Given the description of an element on the screen output the (x, y) to click on. 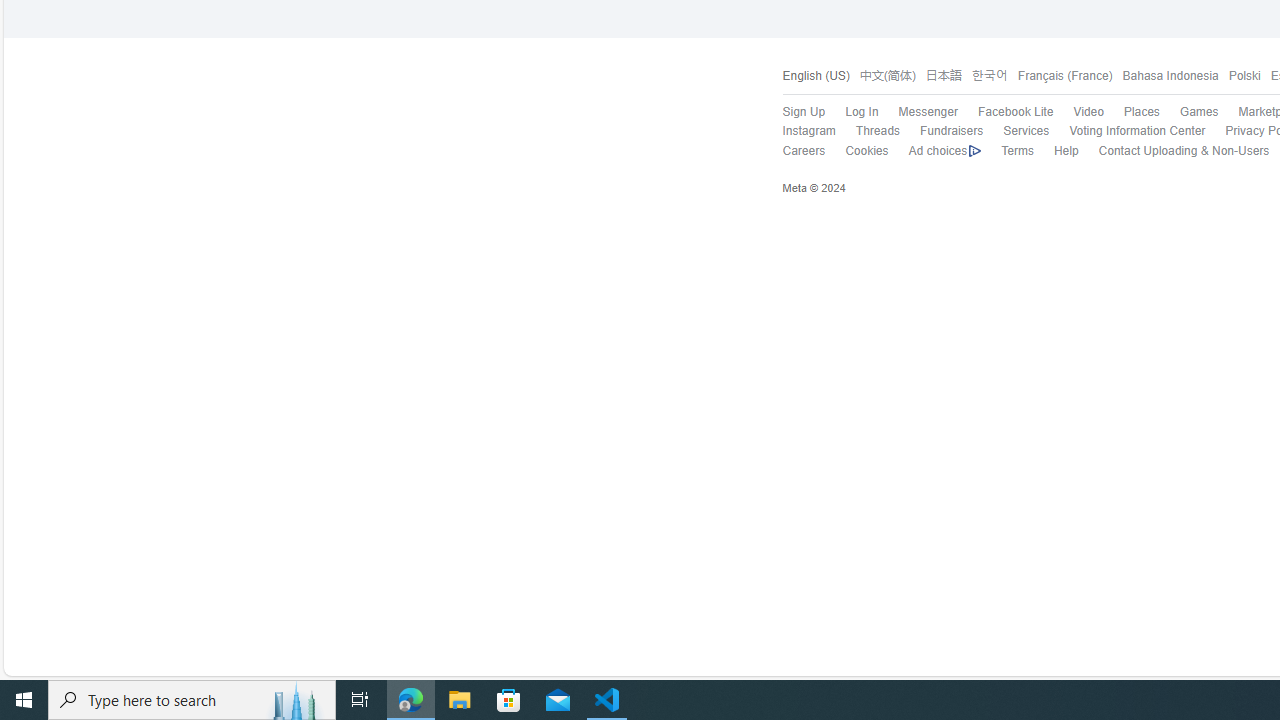
Careers (803, 150)
Polski (1243, 76)
Ad choices (934, 151)
Sign Up (803, 112)
Voting Information Center (1136, 130)
Games (1188, 112)
Cookies (857, 151)
Facebook Lite (1005, 112)
Terms (1017, 150)
Fundraisers (941, 131)
Contact Uploading & Non-Users (1183, 150)
Messenger (927, 112)
